Given the description of an element on the screen output the (x, y) to click on. 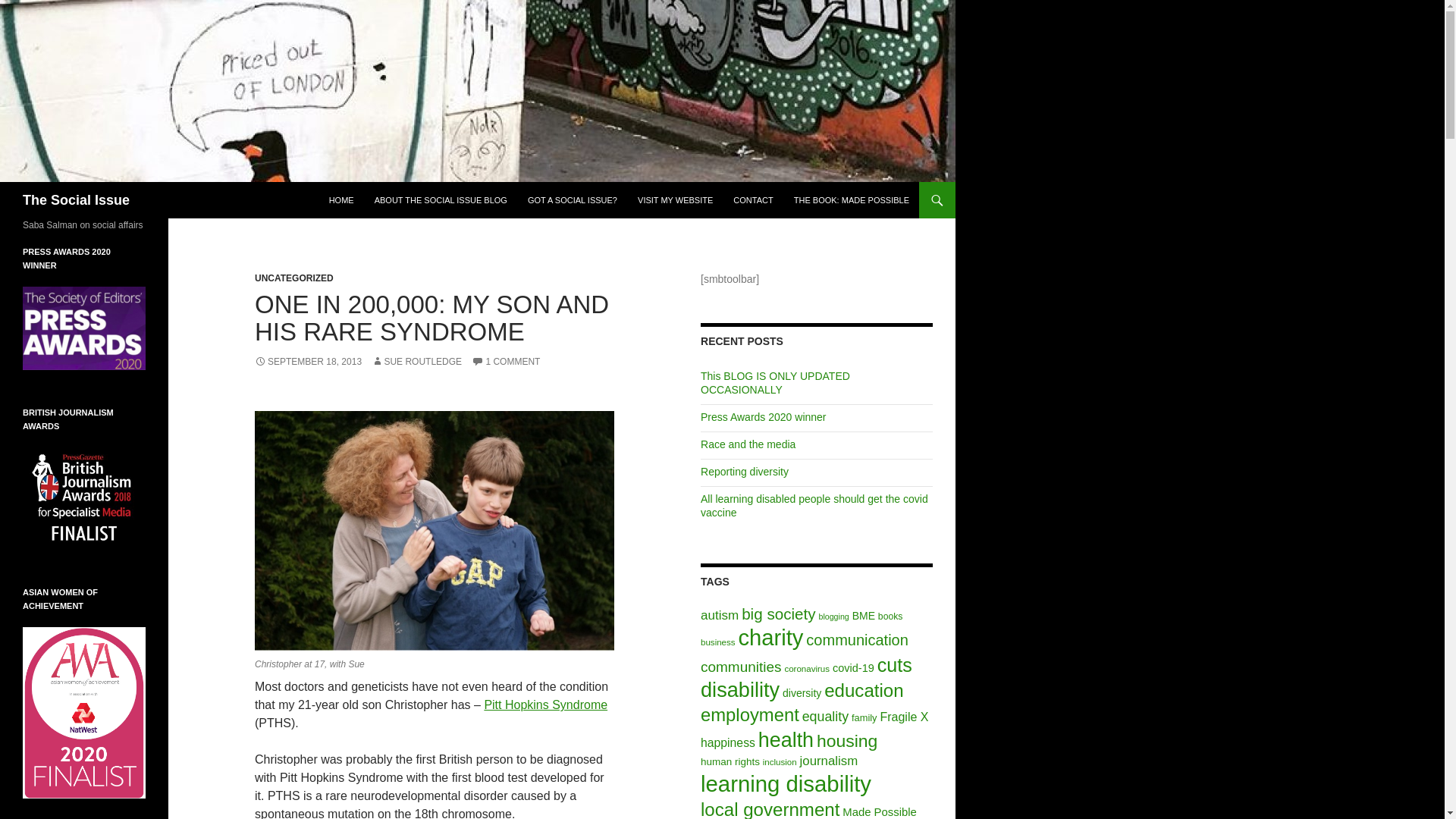
HOME (341, 199)
BME (863, 615)
Race and the media (747, 444)
big society (778, 613)
ABOUT THE SOCIAL ISSUE BLOG (440, 199)
THE BOOK: MADE POSSIBLE (851, 199)
This BLOG IS ONLY UPDATED OCCASIONALLY (775, 382)
The Social Issue (76, 199)
GOT A SOCIAL ISSUE? (572, 199)
VISIT MY WEBSITE (675, 199)
Press Awards 2020 winner (763, 417)
All learning disabled people should get the covid vaccine (814, 505)
1 COMMENT (505, 361)
